Given the description of an element on the screen output the (x, y) to click on. 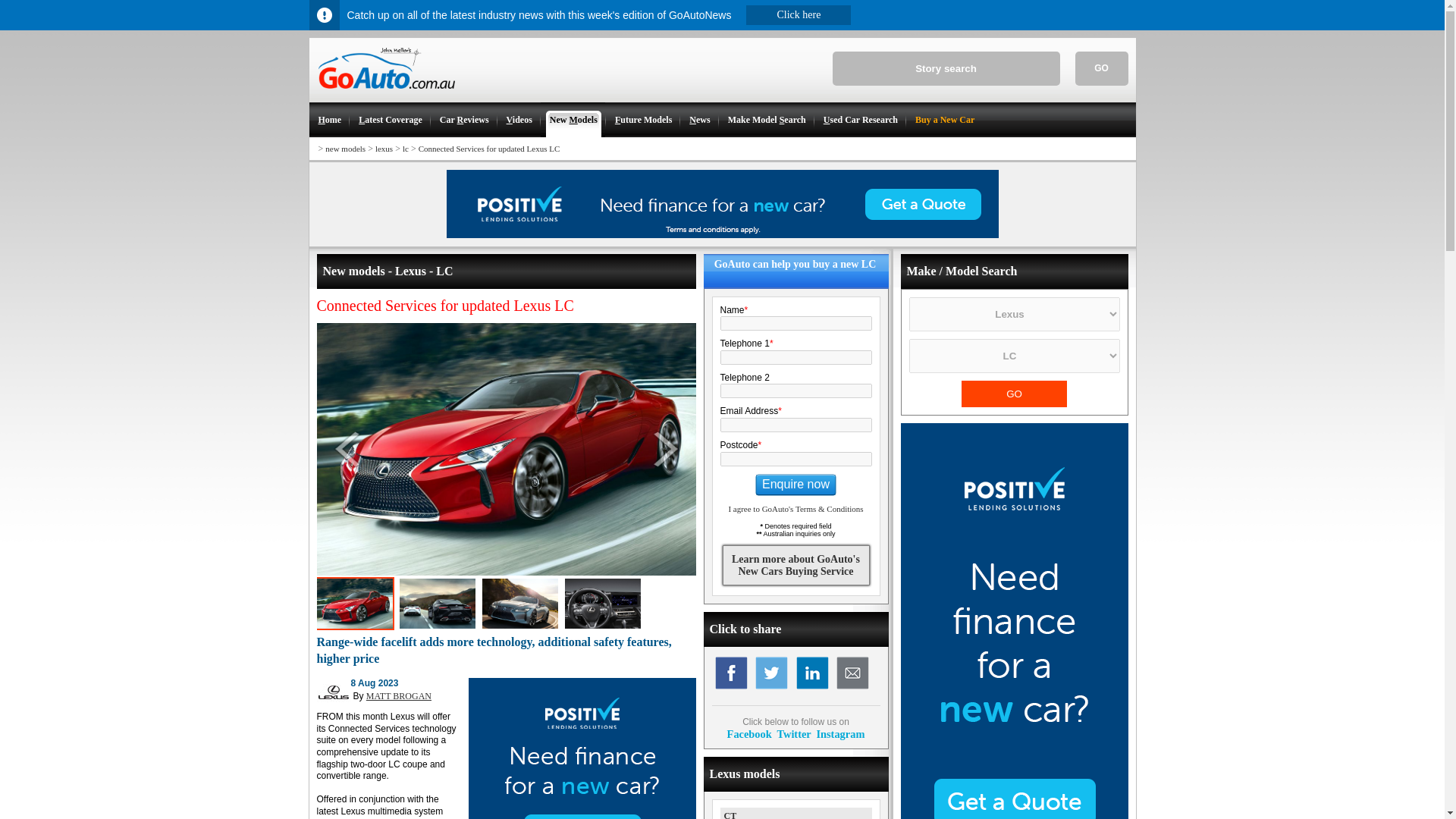
Car Reviews (463, 119)
Videos (518, 119)
GO (1013, 393)
lexus (384, 148)
Buy a New Car (943, 119)
new models (344, 148)
Used Car Research (859, 119)
Latest Coverage (389, 119)
lexus logo (333, 692)
GoAuto.com.au (381, 94)
Connected Services for updated Lexus LC (489, 148)
